Given the description of an element on the screen output the (x, y) to click on. 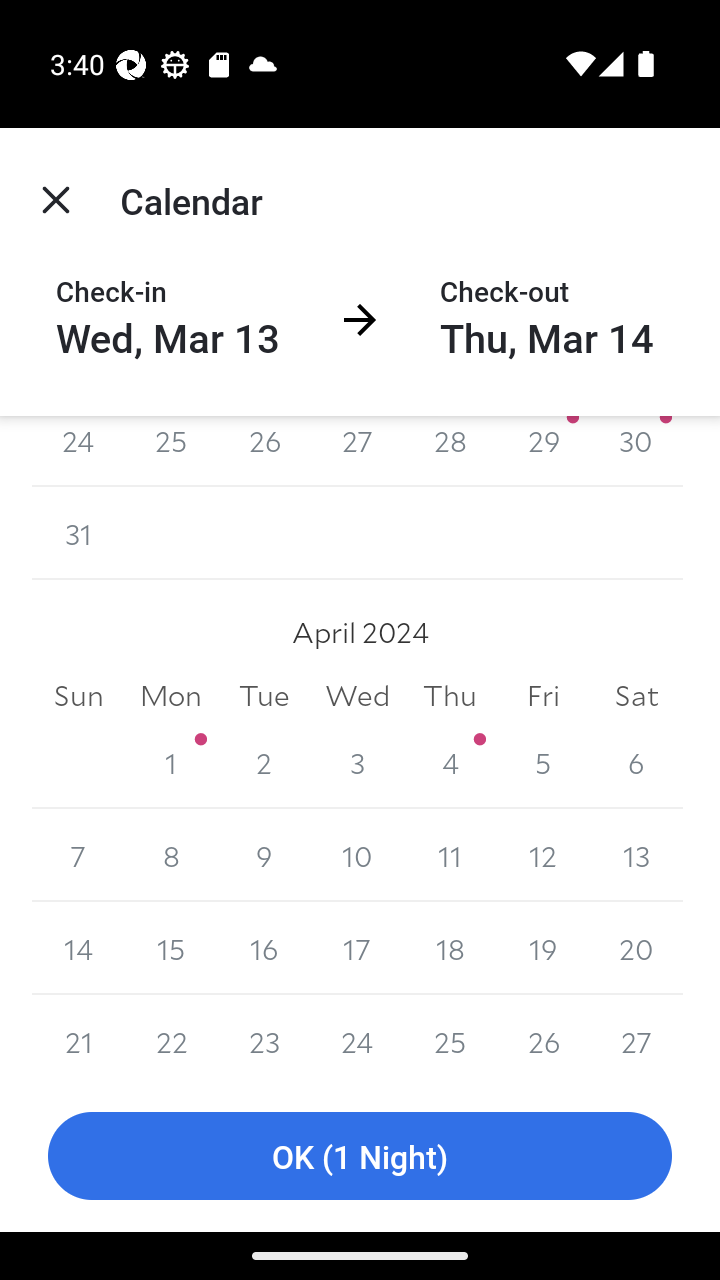
24 24 March 2024 (78, 451)
25 25 March 2024 (171, 451)
26 26 March 2024 (264, 451)
27 27 March 2024 (357, 451)
28 28 March 2024 (449, 451)
29 29 March 2024 (542, 451)
30 30 March 2024 (636, 451)
31 31 March 2024 (78, 532)
Sun (78, 694)
Mon (171, 694)
Tue (264, 694)
Wed (357, 694)
Thu (449, 694)
Fri (542, 694)
Sat (636, 694)
1 1 April 2024 (171, 761)
2 2 April 2024 (264, 761)
3 3 April 2024 (357, 761)
4 4 April 2024 (449, 761)
5 5 April 2024 (542, 761)
6 6 April 2024 (636, 761)
7 7 April 2024 (78, 855)
8 8 April 2024 (171, 855)
9 9 April 2024 (264, 855)
10 10 April 2024 (357, 855)
11 11 April 2024 (449, 855)
12 12 April 2024 (542, 855)
13 13 April 2024 (636, 855)
14 14 April 2024 (78, 948)
15 15 April 2024 (171, 948)
16 16 April 2024 (264, 948)
17 17 April 2024 (357, 948)
18 18 April 2024 (449, 948)
19 19 April 2024 (542, 948)
20 20 April 2024 (636, 948)
21 21 April 2024 (78, 1037)
22 22 April 2024 (171, 1037)
23 23 April 2024 (264, 1037)
24 24 April 2024 (357, 1037)
25 25 April 2024 (449, 1037)
26 26 April 2024 (542, 1037)
27 27 April 2024 (636, 1037)
OK (1 Night) (359, 1156)
